Given the description of an element on the screen output the (x, y) to click on. 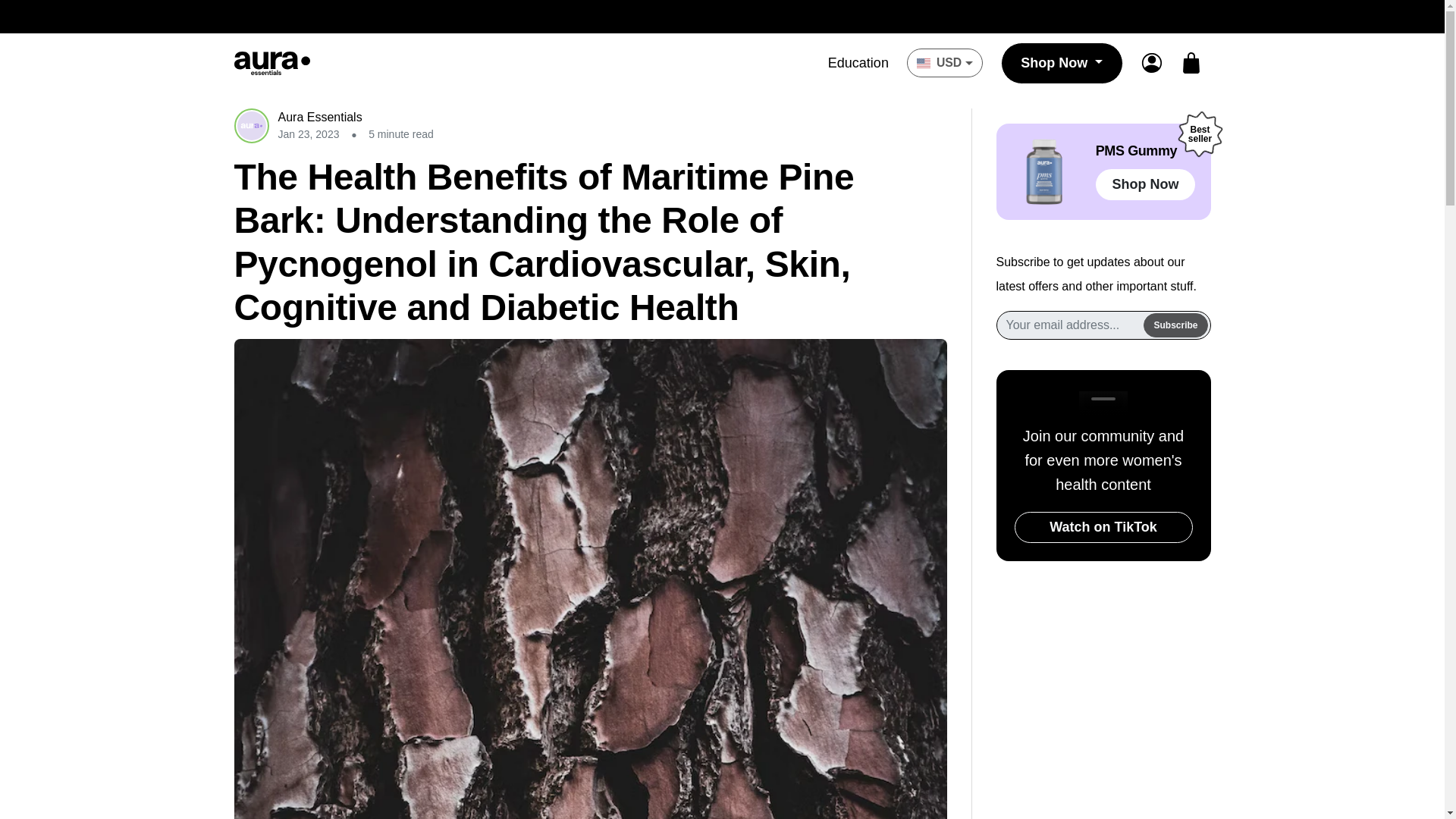
Education (858, 62)
USD (944, 62)
Shop Now (1061, 63)
